Given the description of an element on the screen output the (x, y) to click on. 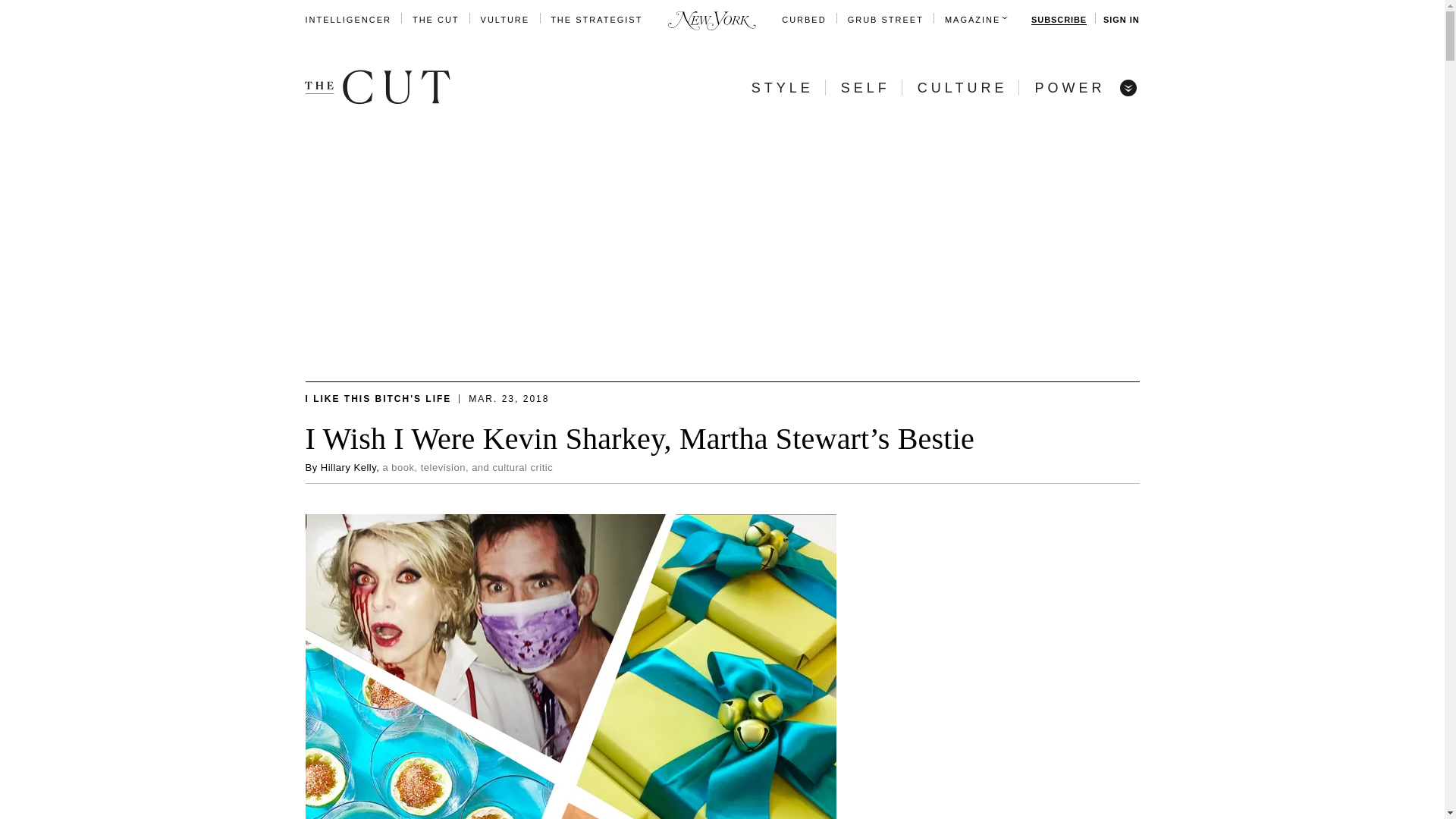
SELF (865, 87)
CURBED (803, 19)
THE CUT (436, 19)
GRUB STREET (885, 19)
CULTURE (962, 87)
THE STRATEGIST (596, 19)
INTELLIGENCER (347, 19)
MAGAZINE (972, 19)
SIGN IN (1120, 19)
Menu (1127, 87)
POWER (1069, 87)
SUBSCRIBE (1058, 19)
VULTURE (504, 19)
STYLE (782, 87)
